Given the description of an element on the screen output the (x, y) to click on. 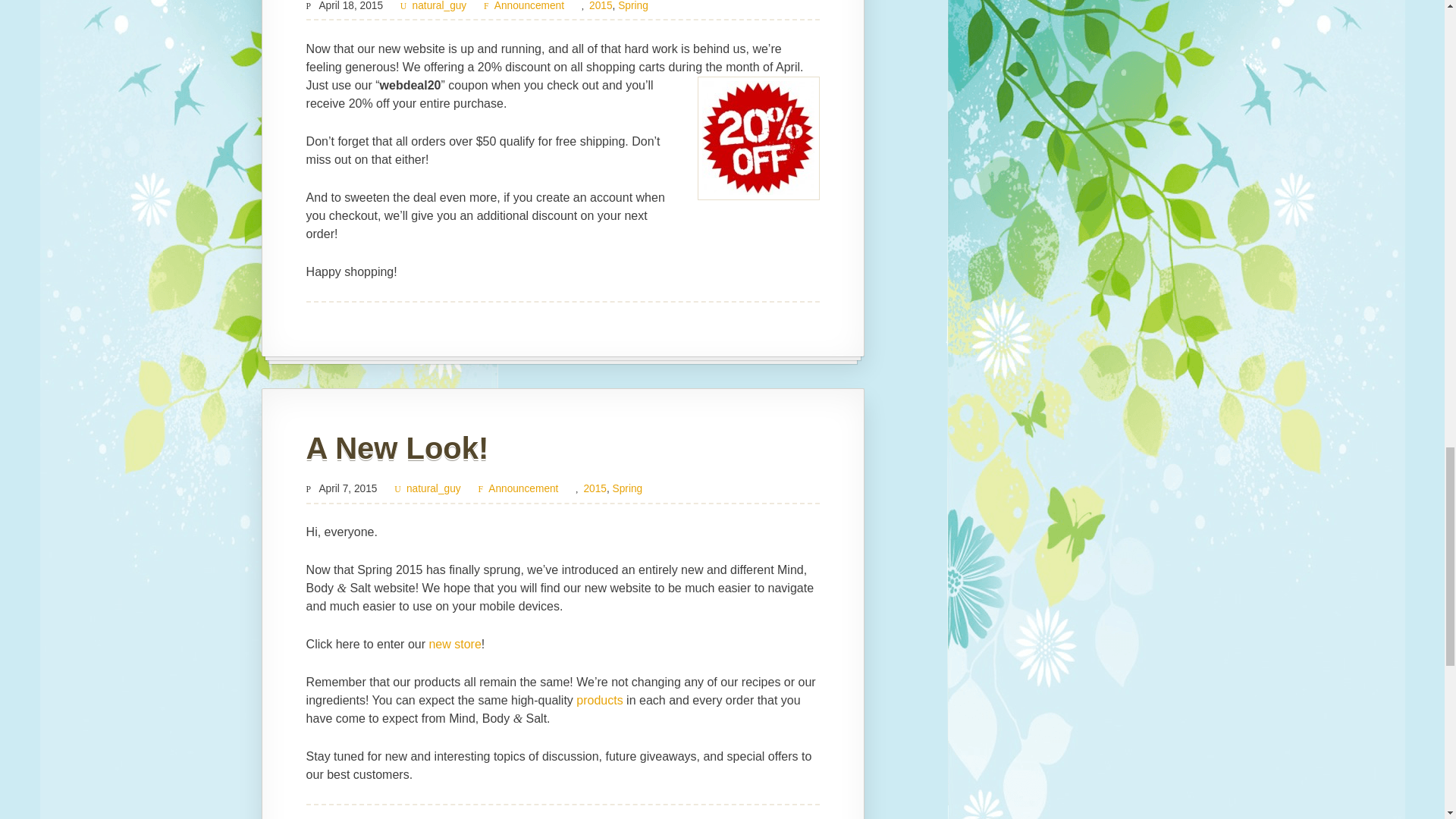
A New Look! (397, 448)
Shop (453, 644)
